Given the description of an element on the screen output the (x, y) to click on. 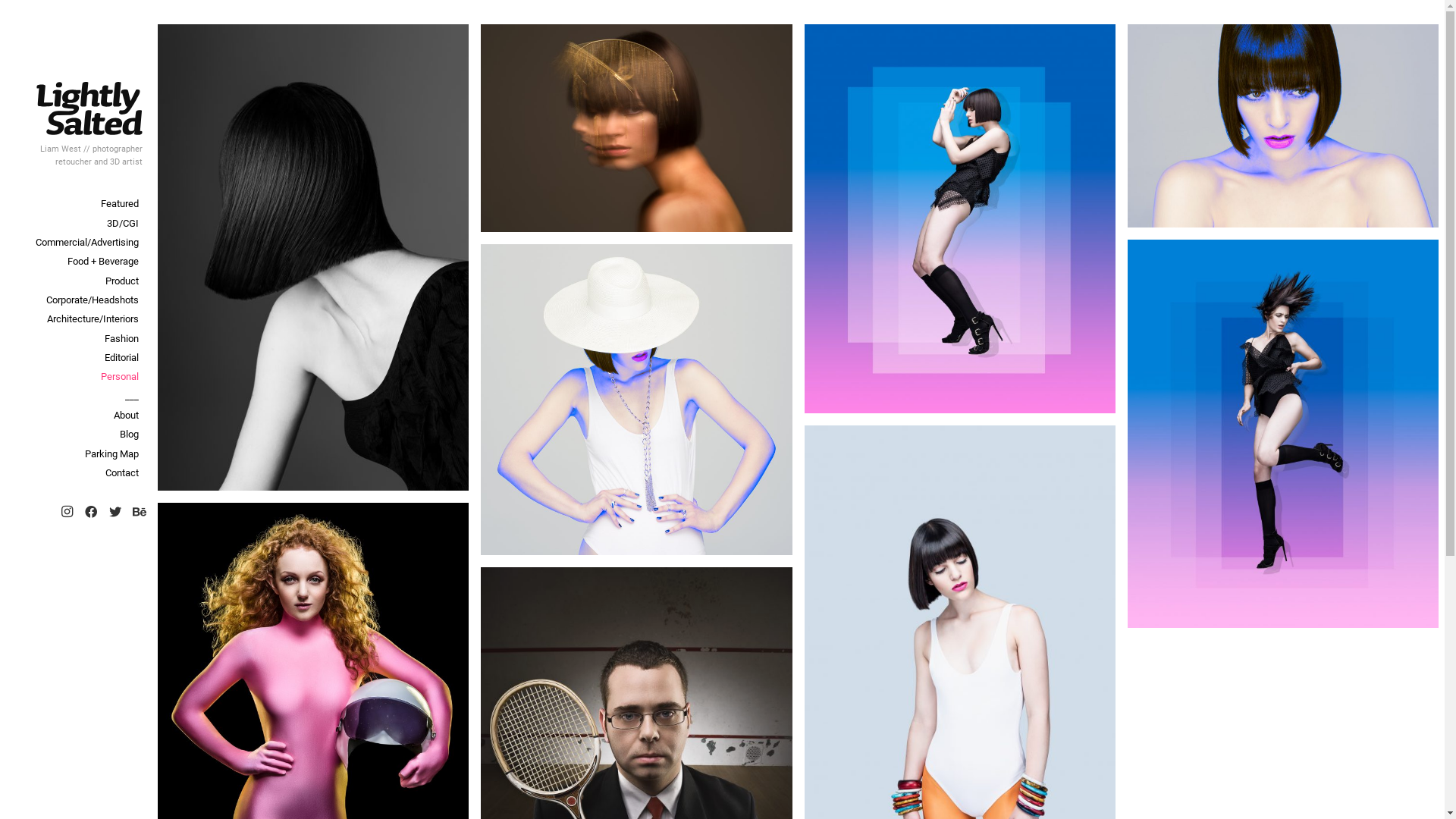
Contact Element type: text (75, 472)
___ Element type: text (75, 395)
116-LilyHabermehl_1234_web Element type: hover (1282, 433)
Editorial Element type: text (75, 357)
Instagram Element type: hover (66, 511)
120-LilyHabermehl_1202_web Element type: hover (635, 399)
Architecture/Interiors Element type: text (75, 318)
Personal Element type: text (75, 376)
Corporate/Headshots Element type: text (75, 299)
3D/CGI Element type: text (75, 222)
Product Element type: text (75, 280)
Blog Element type: text (75, 433)
104-LilyHabermehl_1320_web Element type: hover (635, 128)
Featured Element type: text (75, 203)
Food + Beverage Element type: text (75, 260)
108-LilyHabermehl_1213_web Element type: hover (958, 218)
100-LilyHabermehl_1245_web Element type: hover (312, 257)
Twitter Element type: hover (115, 511)
Parking Map Element type: text (75, 453)
112-LilyHabermehl_1183_web Element type: hover (1282, 125)
Commercial/Advertising Element type: text (75, 241)
Fashion Element type: text (75, 338)
Facebook Element type: hover (90, 511)
About Element type: text (75, 414)
Behance Element type: hover (139, 511)
